Given the description of an element on the screen output the (x, y) to click on. 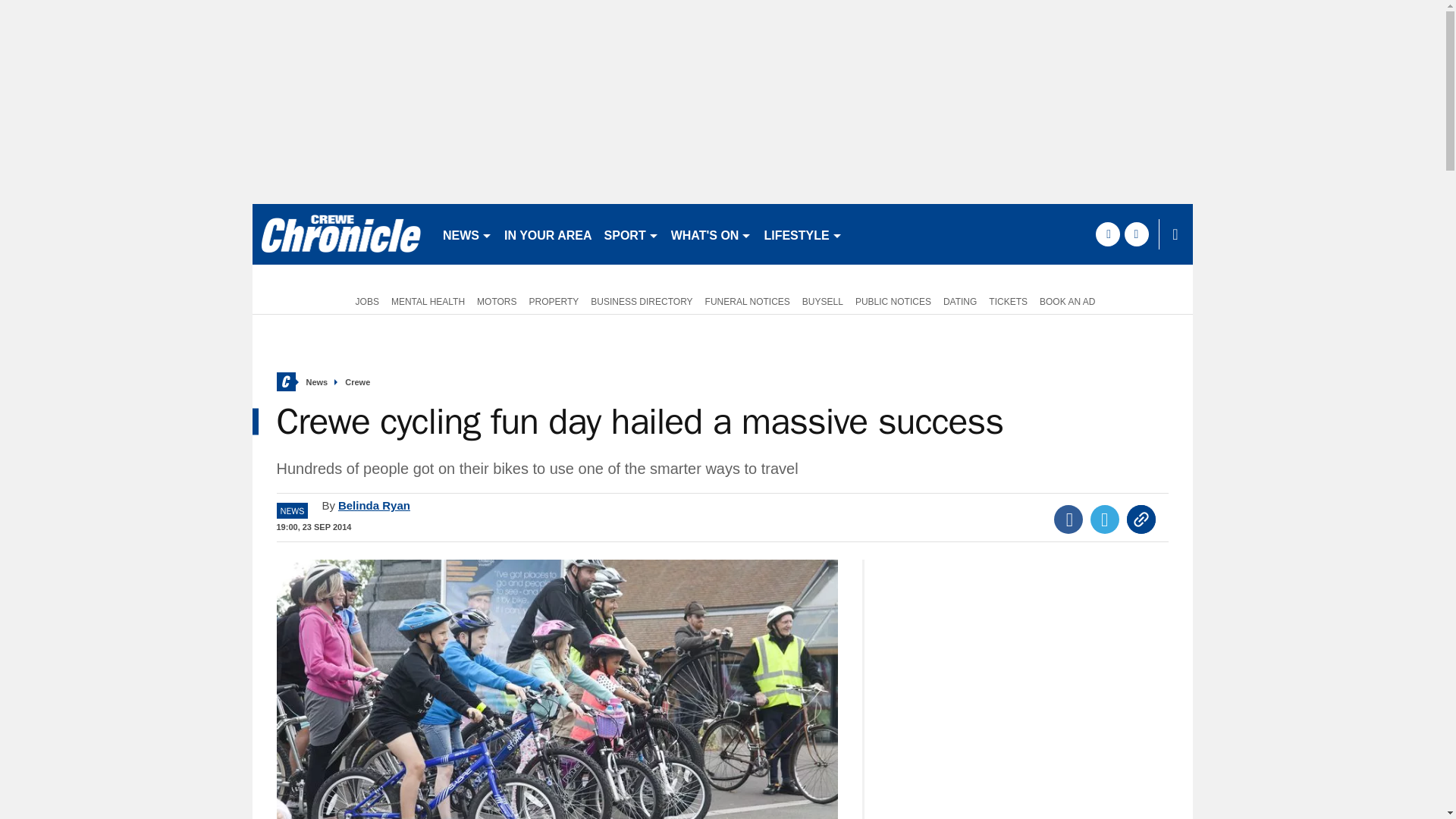
Twitter (1104, 519)
NEWS (466, 233)
IN YOUR AREA (547, 233)
WHAT'S ON (711, 233)
Facebook (1068, 519)
LIFESTYLE (802, 233)
facebook (1106, 233)
twitter (1136, 233)
crewechronicle (340, 233)
SPORT (631, 233)
